Given the description of an element on the screen output the (x, y) to click on. 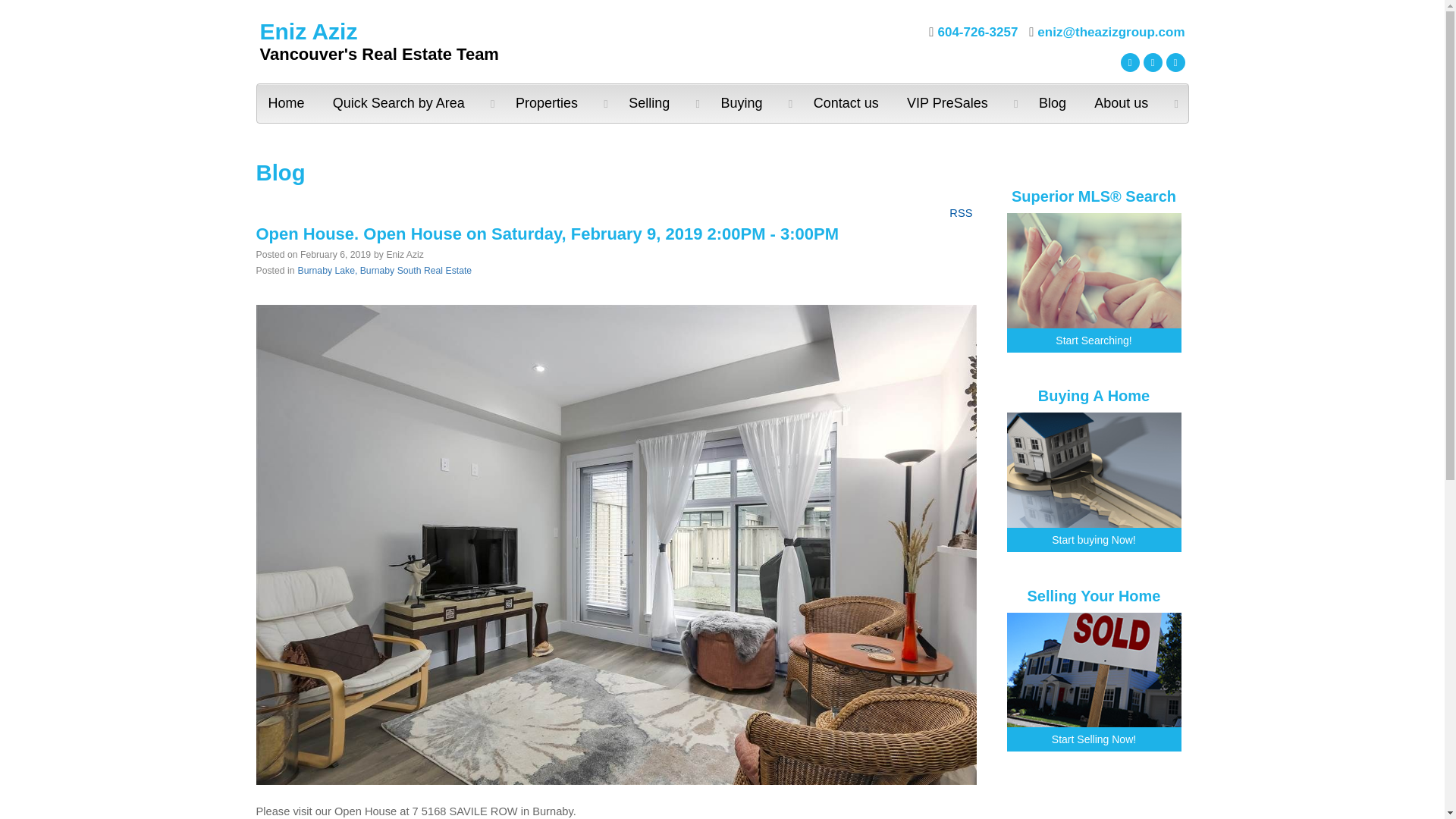
VIP PreSales (961, 103)
Quick Search by Area (412, 103)
Properties (560, 103)
Contact us (848, 103)
Buying (756, 103)
604-726-3257 (972, 31)
Home (288, 103)
Selling (663, 103)
